Given the description of an element on the screen output the (x, y) to click on. 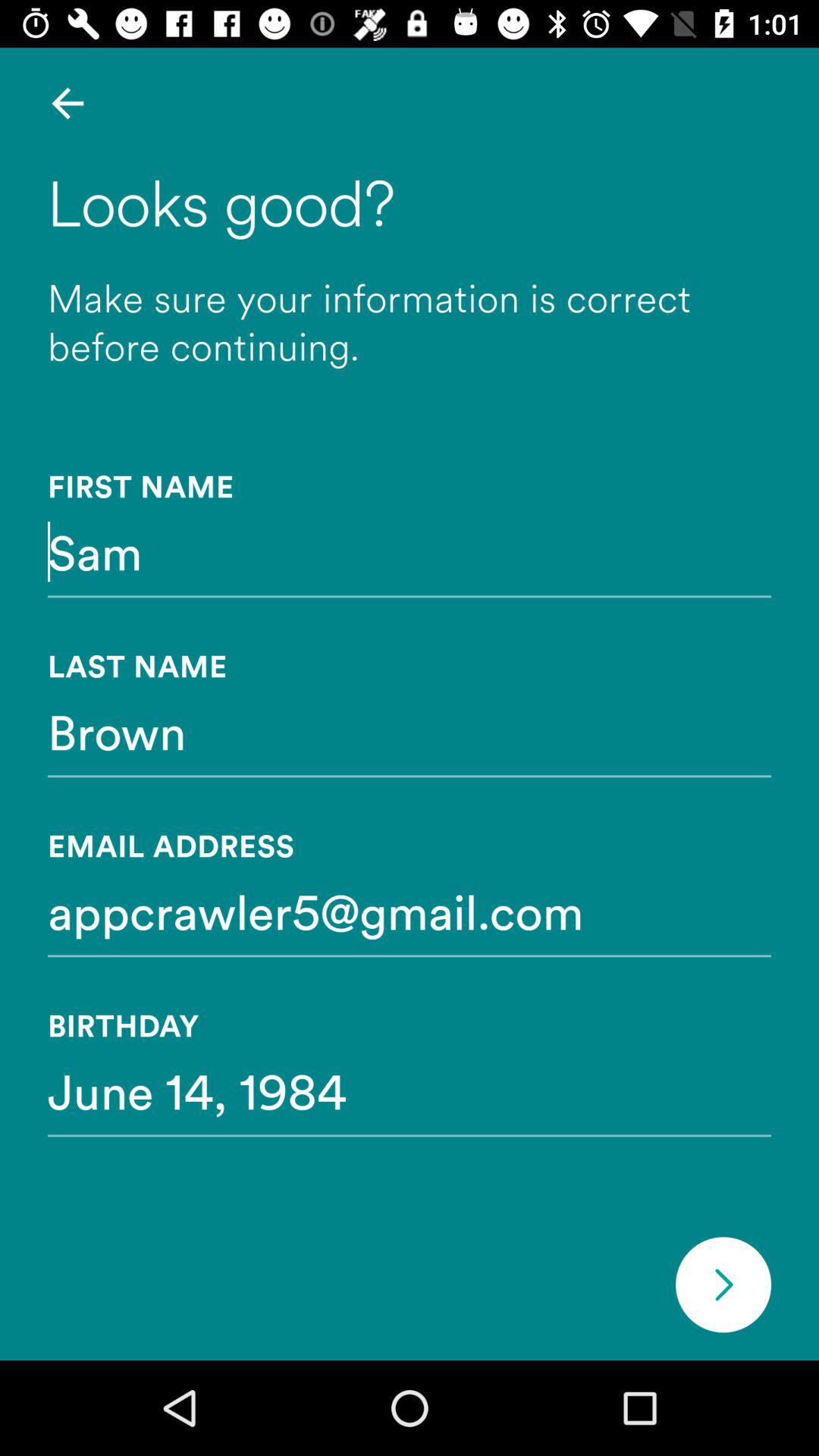
choose item below the june 14, 1984 (723, 1284)
